Given the description of an element on the screen output the (x, y) to click on. 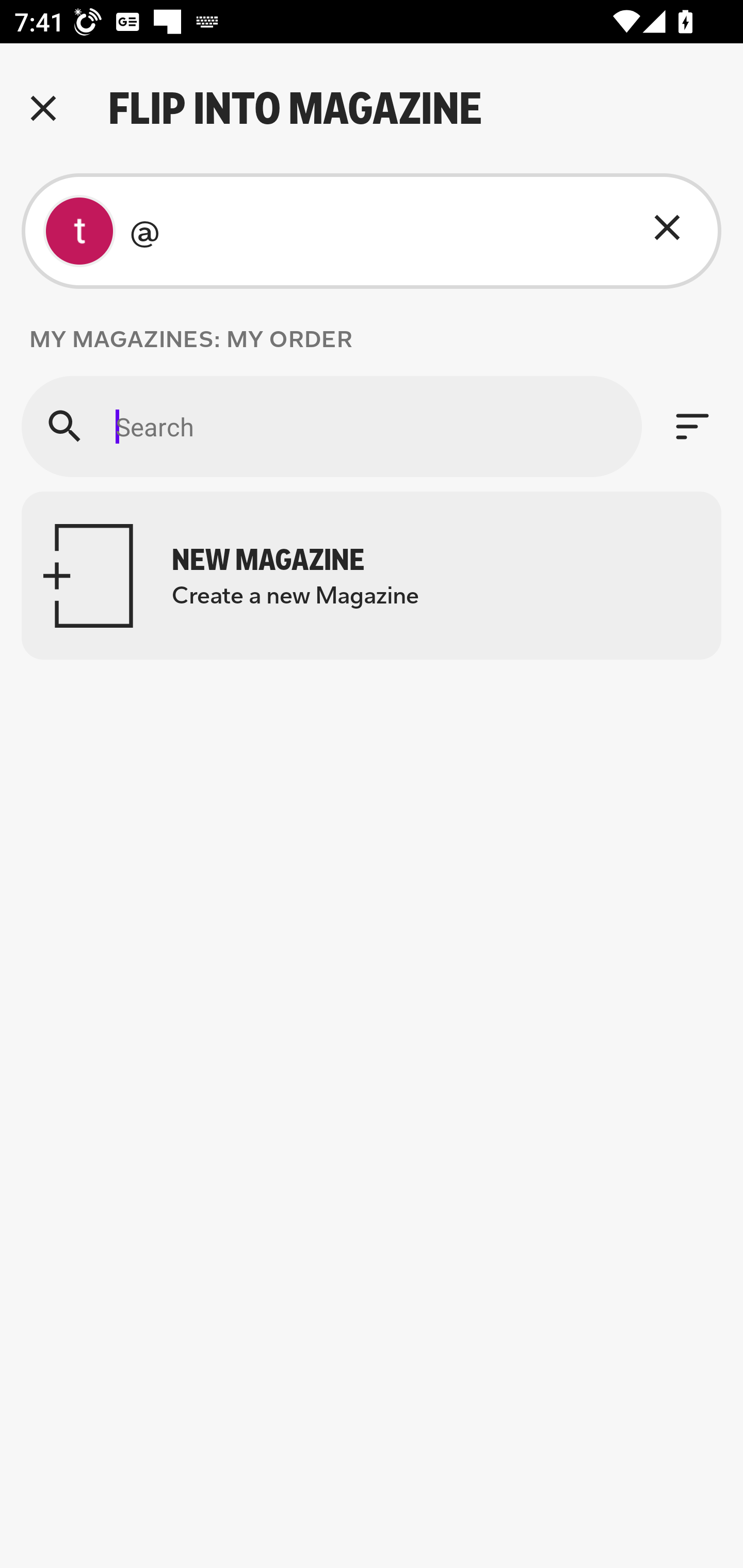
test appium @ (371, 231)
Search (331, 426)
NEW MAGAZINE Create a new Magazine (371, 575)
